Given the description of an element on the screen output the (x, y) to click on. 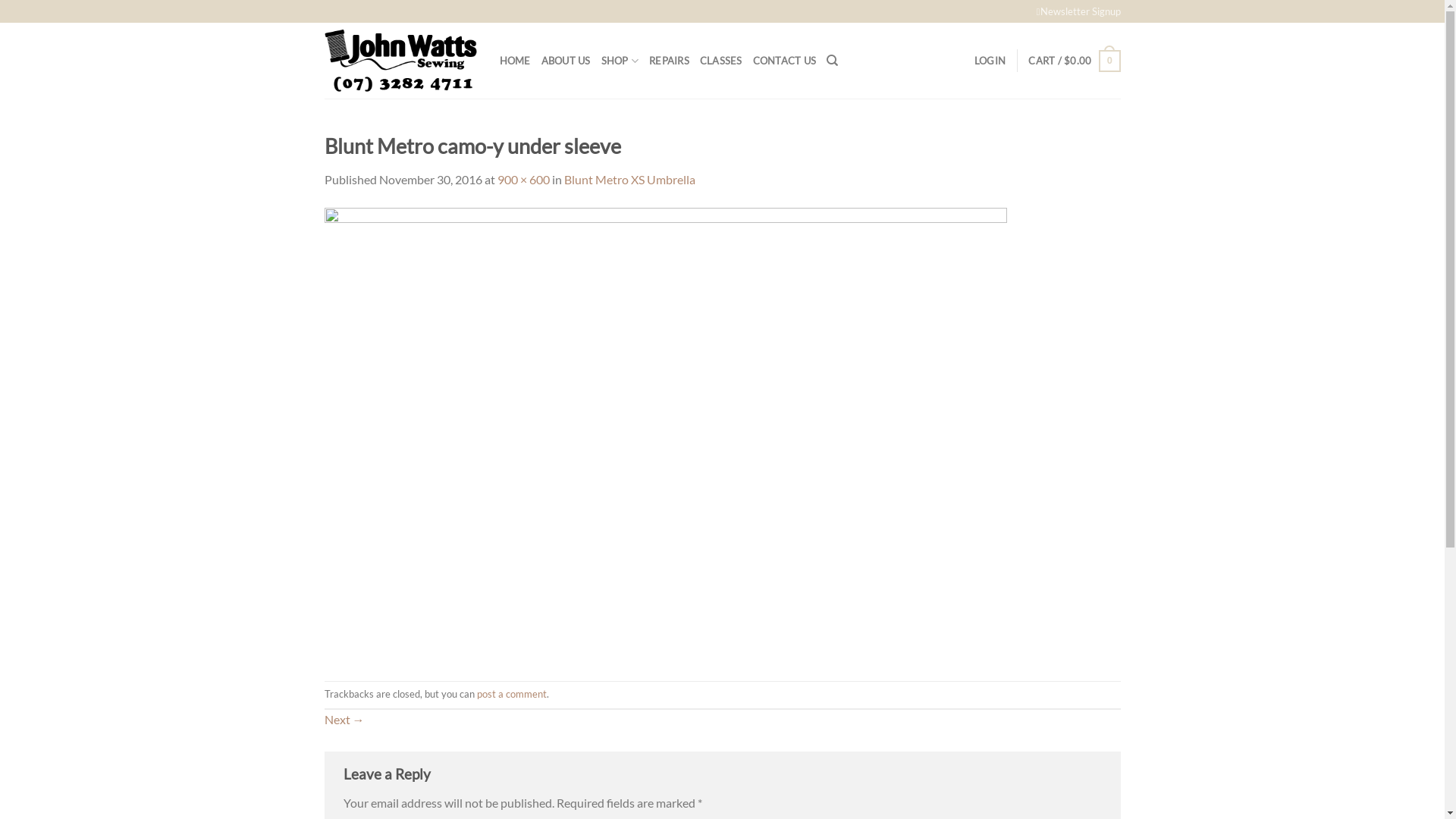
HOME Element type: text (514, 60)
CART / $0.00
0 Element type: text (1074, 61)
REPAIRS Element type: text (669, 60)
Blunt Metro camo-y under sleeve Element type: hover (665, 433)
ABOUT US Element type: text (565, 60)
CONTACT US Element type: text (784, 60)
LOGIN Element type: text (989, 60)
John Watts Sewing - Buy Sewing & Quilting Supplies Online Element type: hover (400, 60)
post a comment Element type: text (511, 693)
Newsletter Signup Element type: text (1078, 11)
Blunt Metro XS Umbrella Element type: text (629, 179)
SHOP Element type: text (619, 60)
CLASSES Element type: text (720, 60)
